Given the description of an element on the screen output the (x, y) to click on. 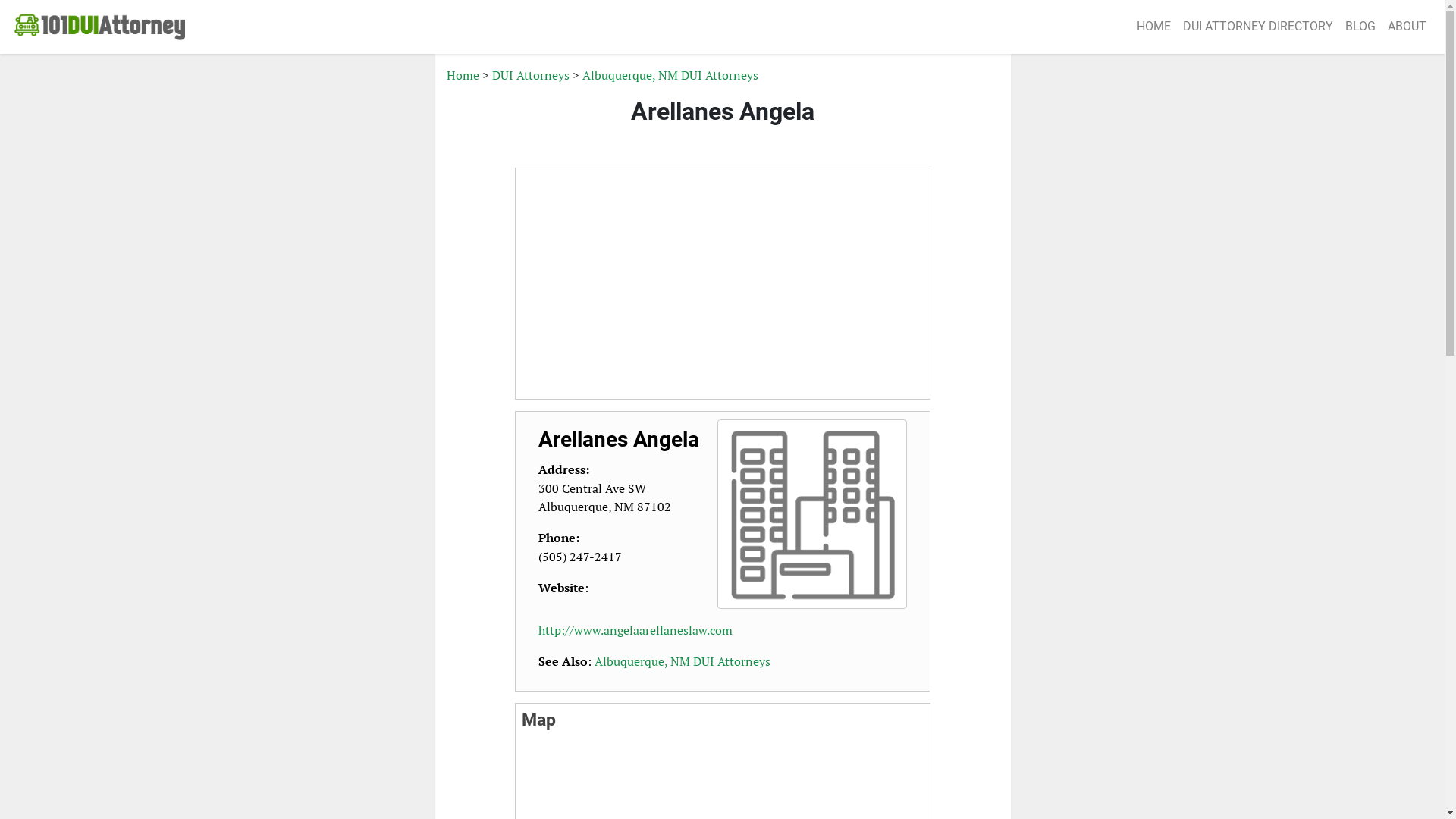
DUI ATTORNEY DIRECTORY Element type: text (1257, 26)
Advertisement Element type: hover (722, 283)
http://www.angelaarellaneslaw.com Element type: text (635, 629)
Albuquerque, NM DUI Attorneys Element type: text (682, 660)
ABOUT Element type: text (1406, 26)
BLOG Element type: text (1360, 26)
DUI Attorneys Element type: text (529, 74)
Advertisement Element type: hover (361, 292)
Advertisement Element type: hover (1082, 292)
Home Element type: text (461, 74)
HOME Element type: text (1153, 26)
Albuquerque, NM DUI Attorneys Element type: text (670, 74)
